Given the description of an element on the screen output the (x, y) to click on. 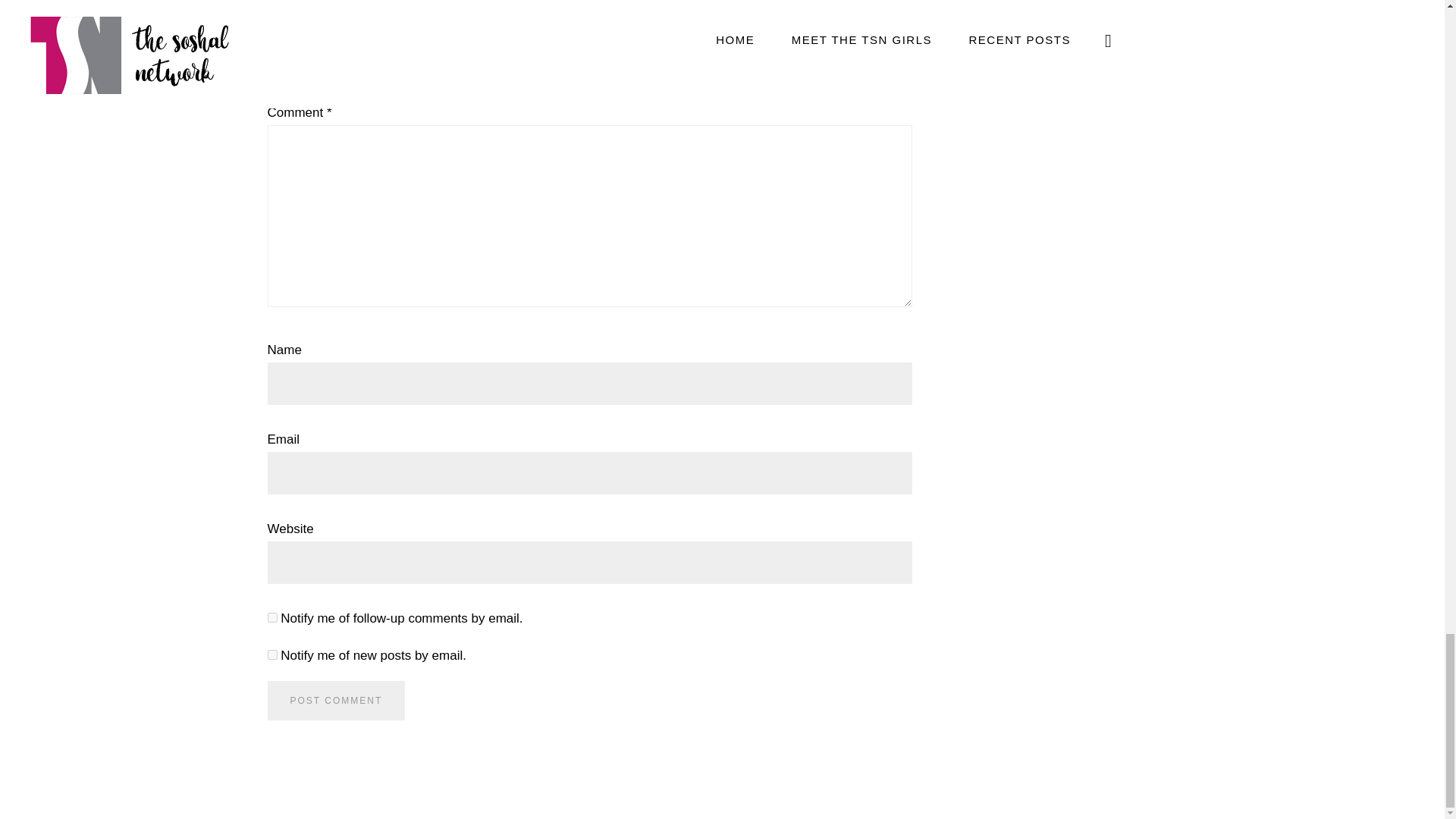
subscribe (271, 617)
Post Comment (335, 700)
Post Comment (335, 700)
subscribe (271, 655)
